Given the description of an element on the screen output the (x, y) to click on. 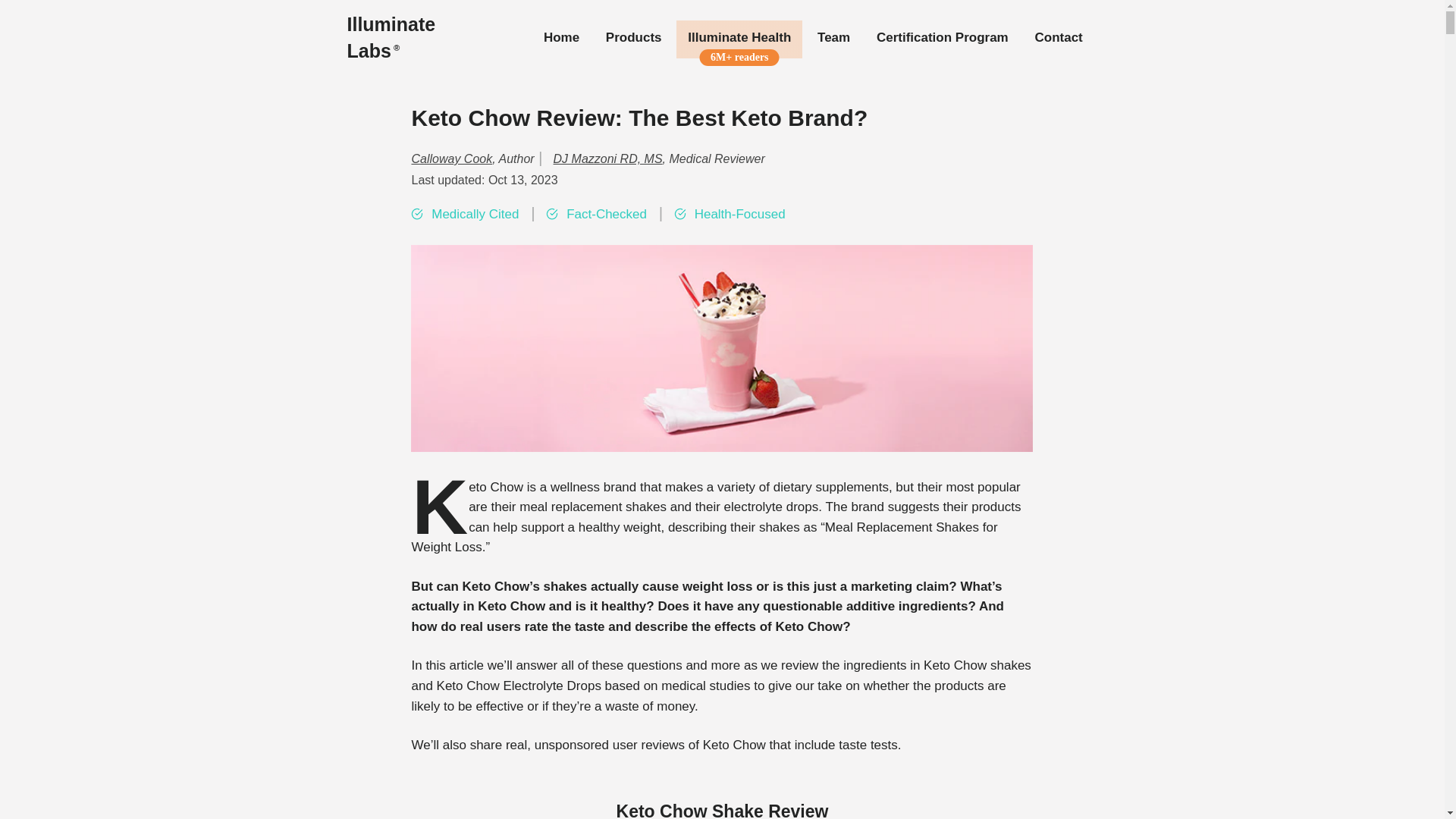
Medically Cited (474, 214)
Illuminate Health (739, 37)
Health-Focused (740, 214)
Team (833, 37)
Contact (1058, 37)
Certification Program (942, 37)
Products (633, 37)
Fact-Checked (606, 214)
Home (561, 37)
